Given the description of an element on the screen output the (x, y) to click on. 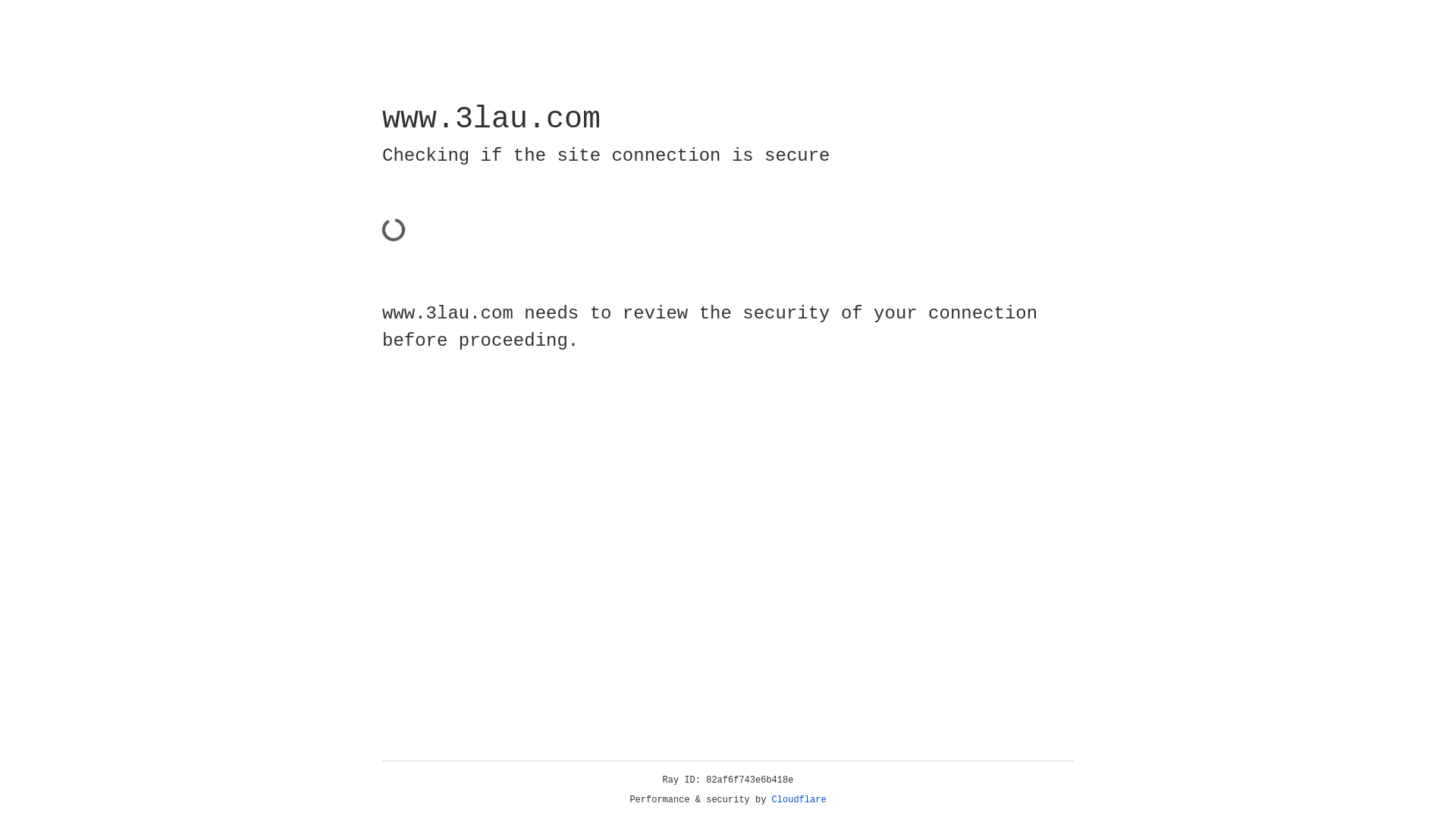
Cloudflare Element type: text (798, 799)
